Given the description of an element on the screen output the (x, y) to click on. 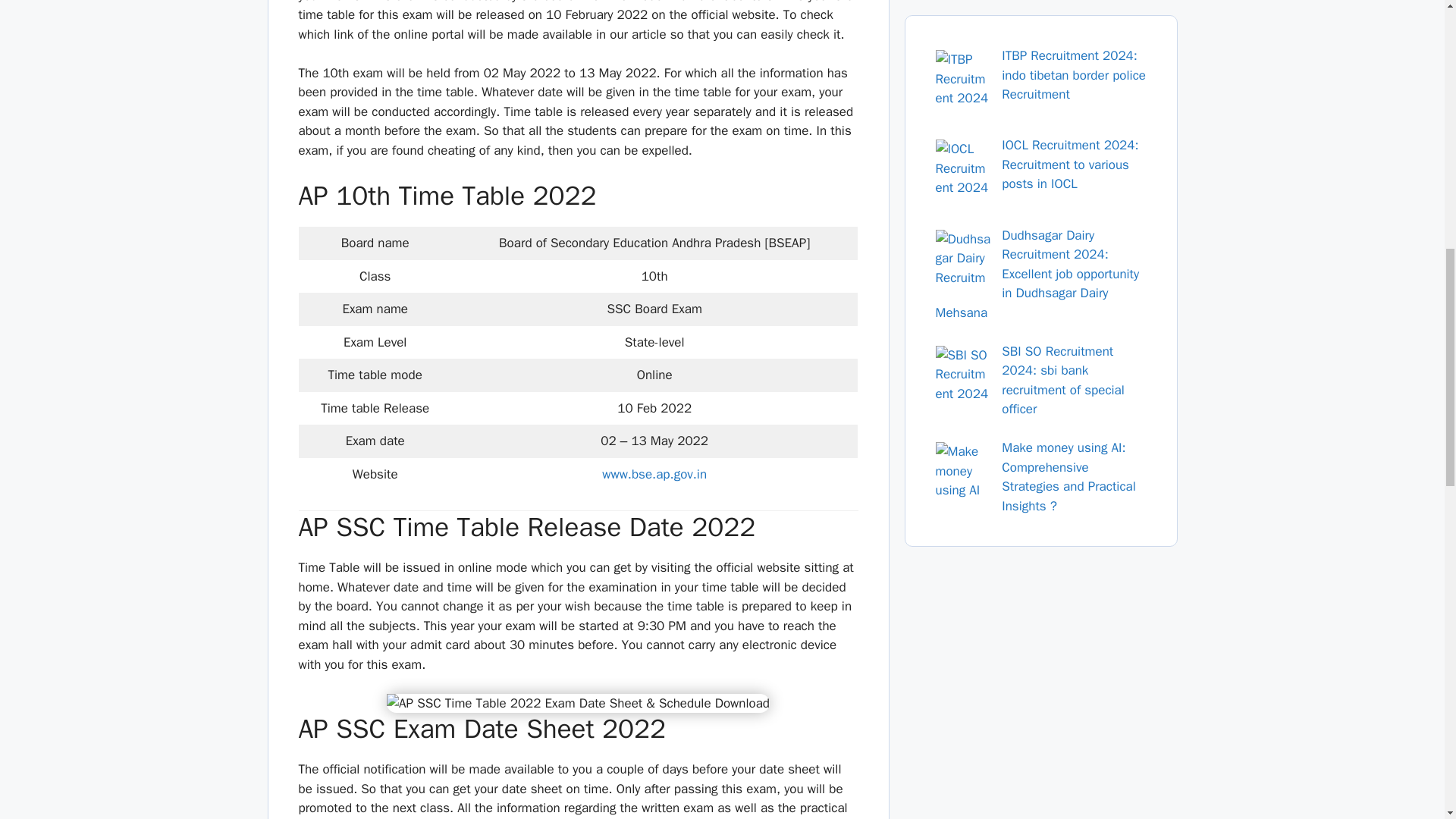
Scroll back to top (1406, 720)
www.bse.ap.gov.in (654, 474)
